Given the description of an element on the screen output the (x, y) to click on. 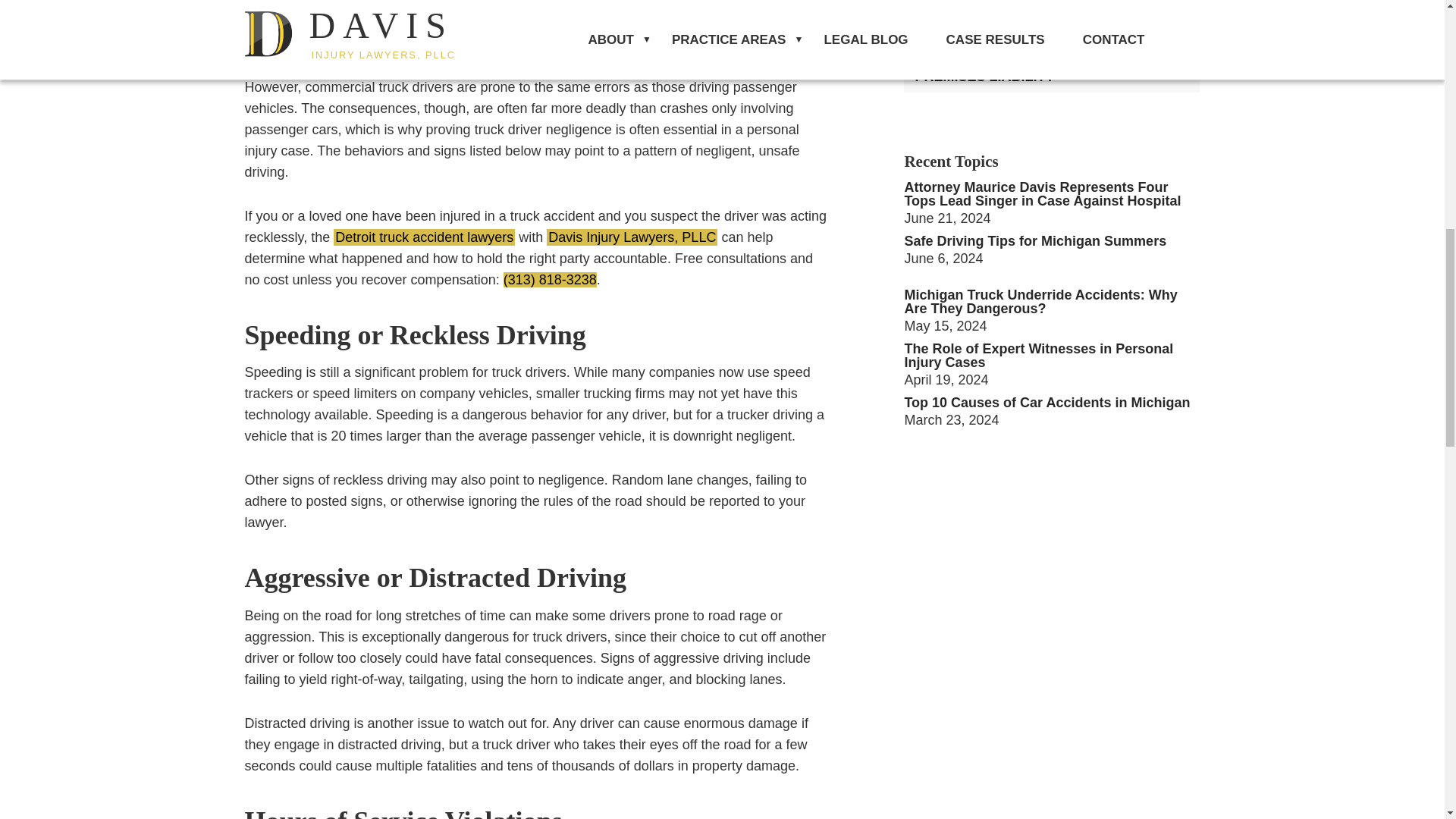
Call Davis Injury Lawyers, PLLC Today (549, 279)
About Us (632, 237)
Detroit Truck Accident Lawyer (424, 237)
